Given the description of an element on the screen output the (x, y) to click on. 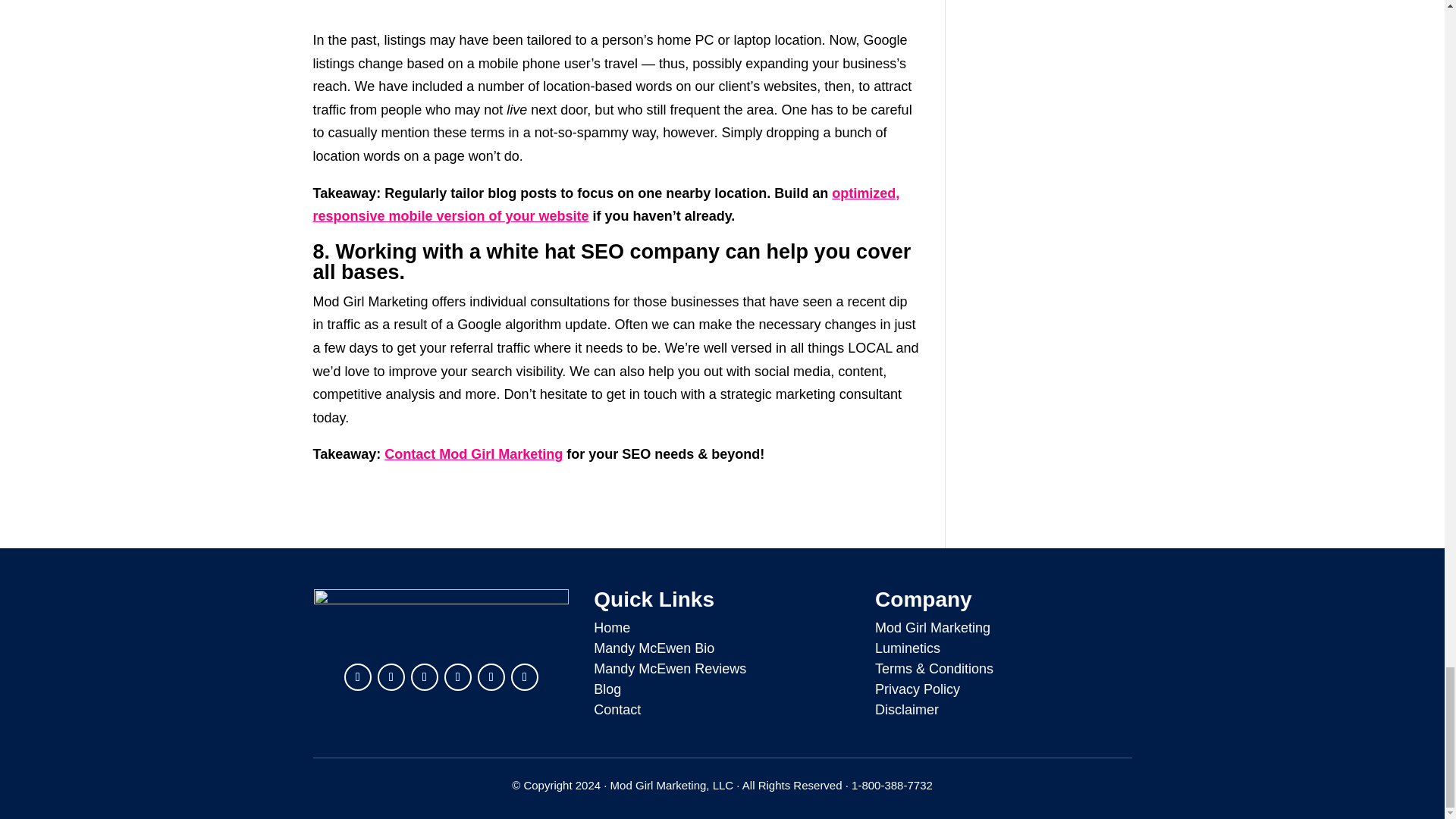
Mod Girl Marketing (932, 627)
Luminetics (907, 648)
Mandy McEwen Bio (654, 648)
Follow on TikTok (524, 677)
Follow on Youtube (457, 677)
Follow on LinkedIn (357, 677)
mm-logo (441, 619)
Mandy McEwen Reviews (669, 668)
Contact Mod Girl Marketing (473, 453)
Contact (617, 709)
